Given the description of an element on the screen output the (x, y) to click on. 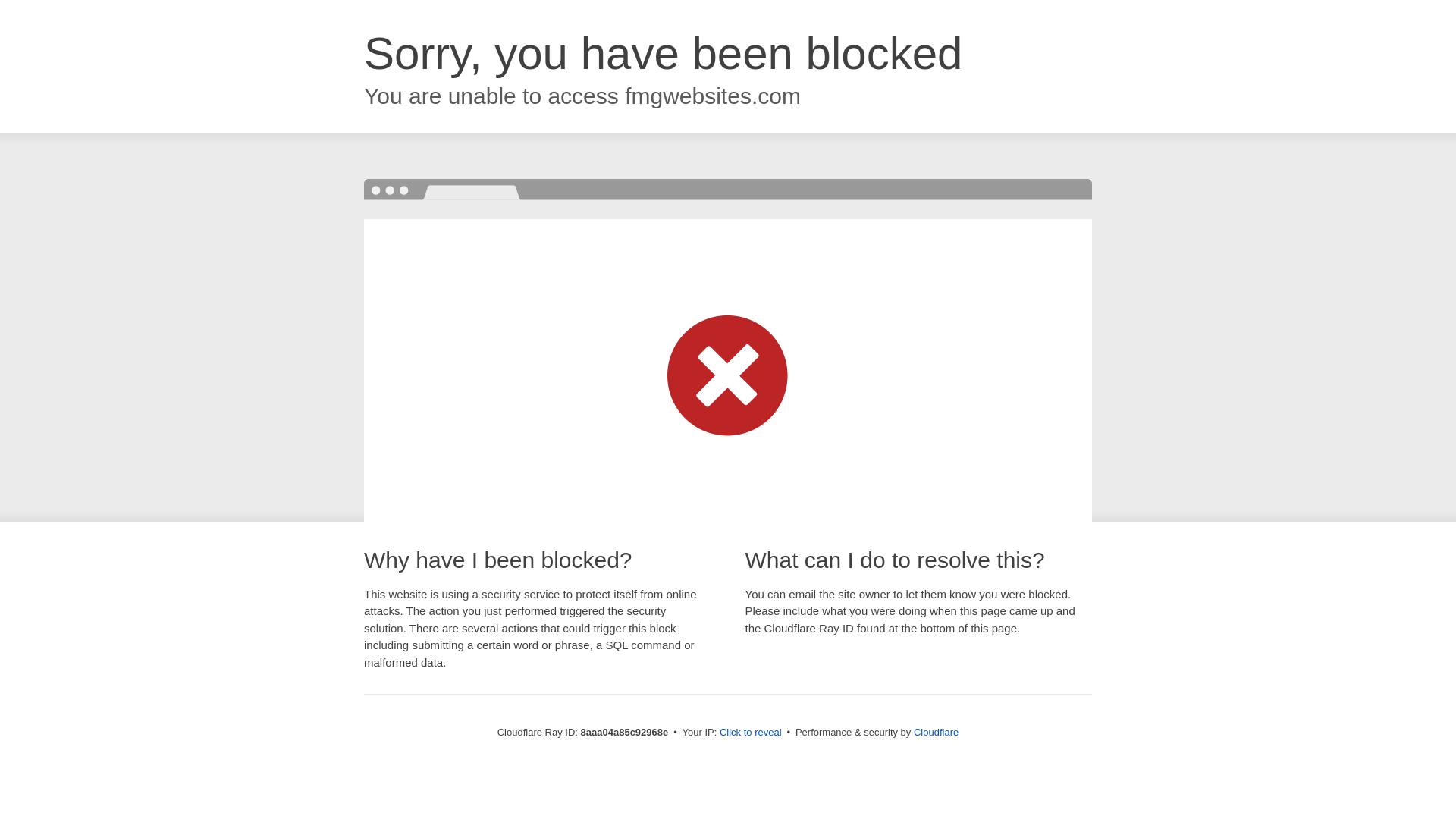
Cloudflare (936, 731)
Click to reveal (750, 732)
